Given the description of an element on the screen output the (x, y) to click on. 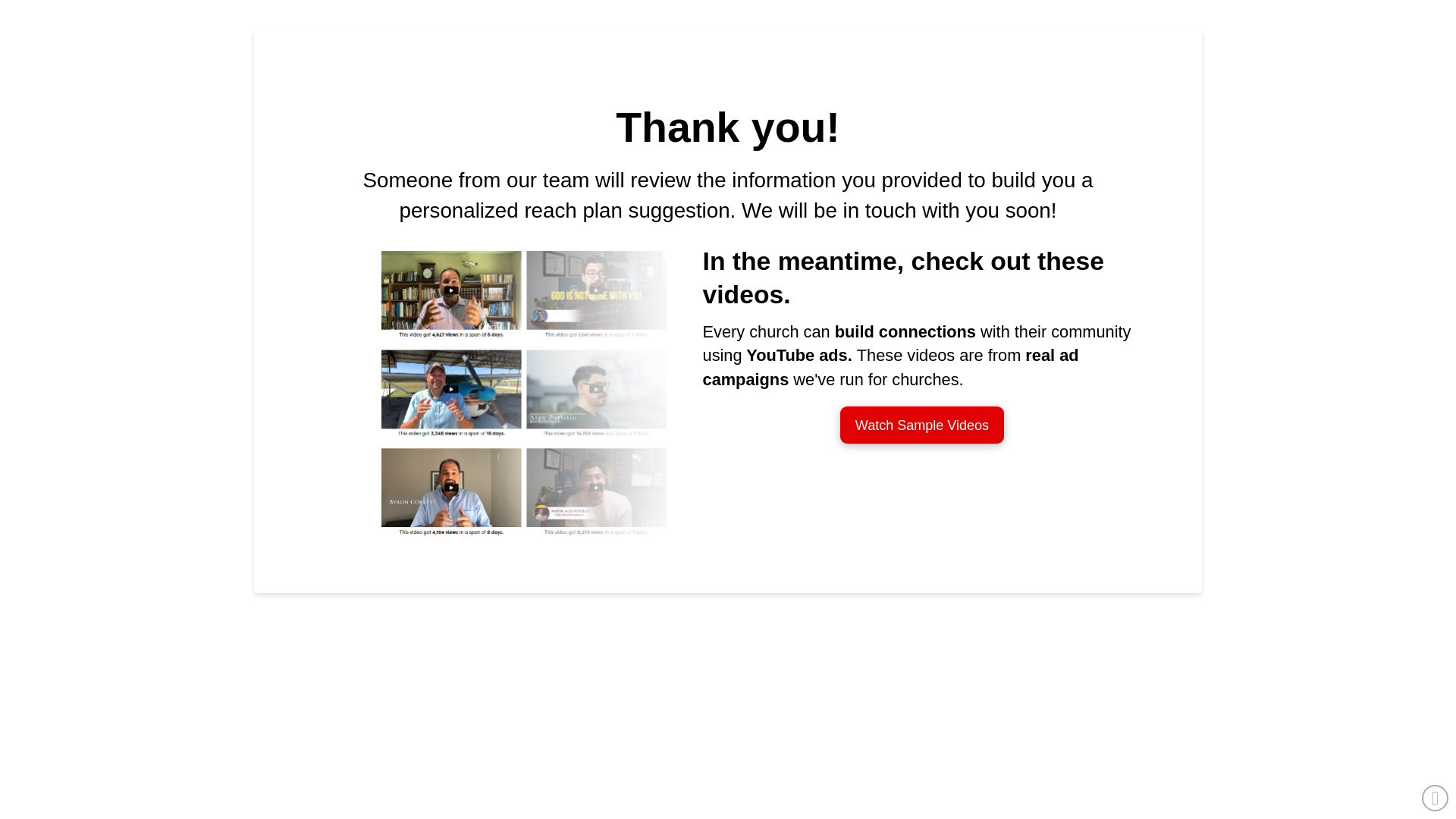
Watch Sample Videos (922, 424)
